Given the description of an element on the screen output the (x, y) to click on. 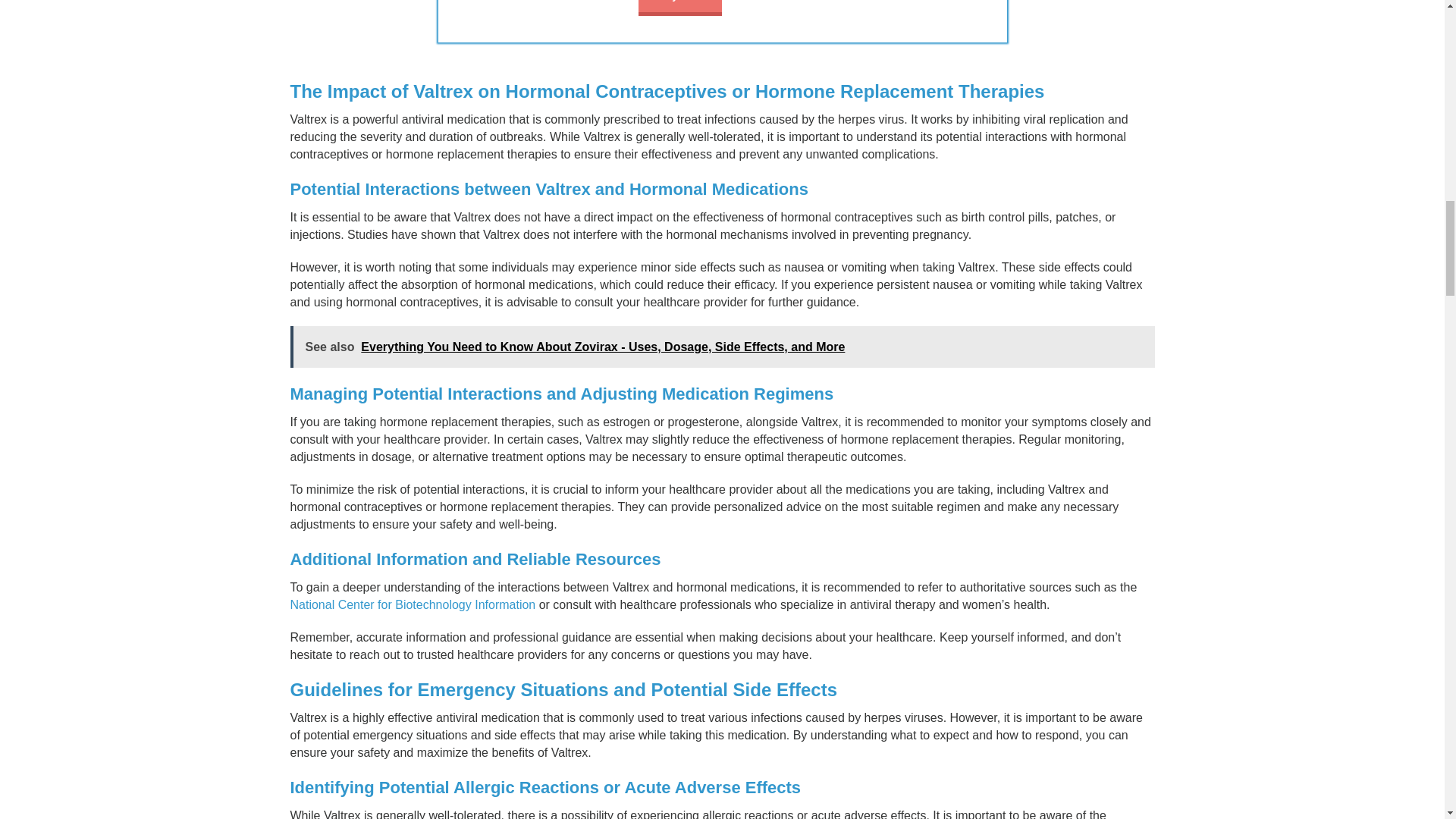
Buy Now (680, 7)
National Center for Biotechnology Information (412, 604)
